Given the description of an element on the screen output the (x, y) to click on. 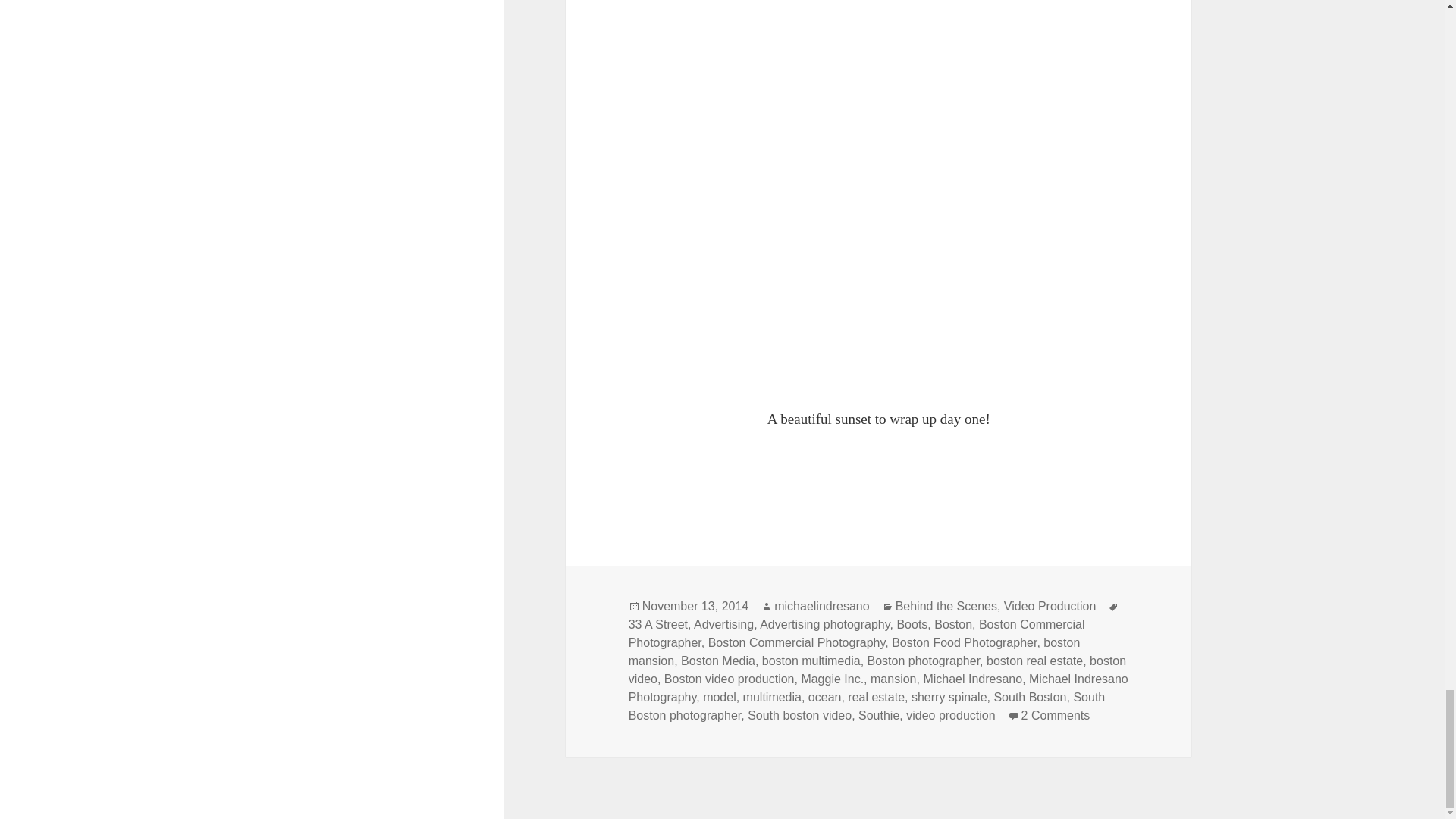
Boots (911, 624)
Boston Commercial Photographer (856, 634)
Boston Food Photographer (963, 643)
michaelindresano (821, 606)
Behind the Scenes (946, 606)
Advertising photography (824, 624)
Boston Media (718, 661)
Boston Commercial Photography (796, 643)
November 13, 2014 (695, 606)
Boston (953, 624)
33 A Street (657, 624)
boston mansion (854, 652)
Video Production (1050, 606)
Advertising (724, 624)
